Given the description of an element on the screen output the (x, y) to click on. 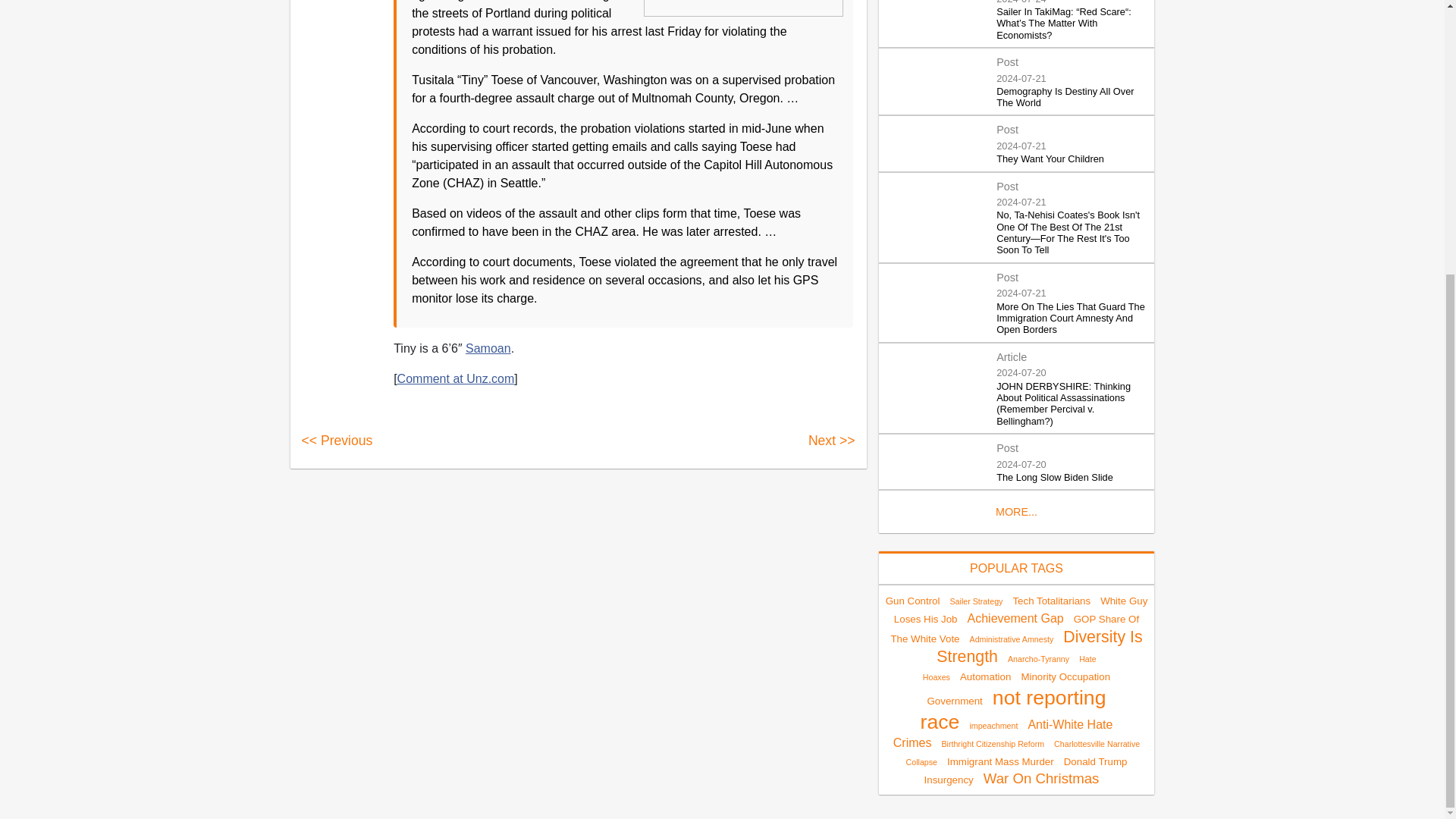
Share to Email (347, 27)
Share to Twitter (347, 1)
